Given the description of an element on the screen output the (x, y) to click on. 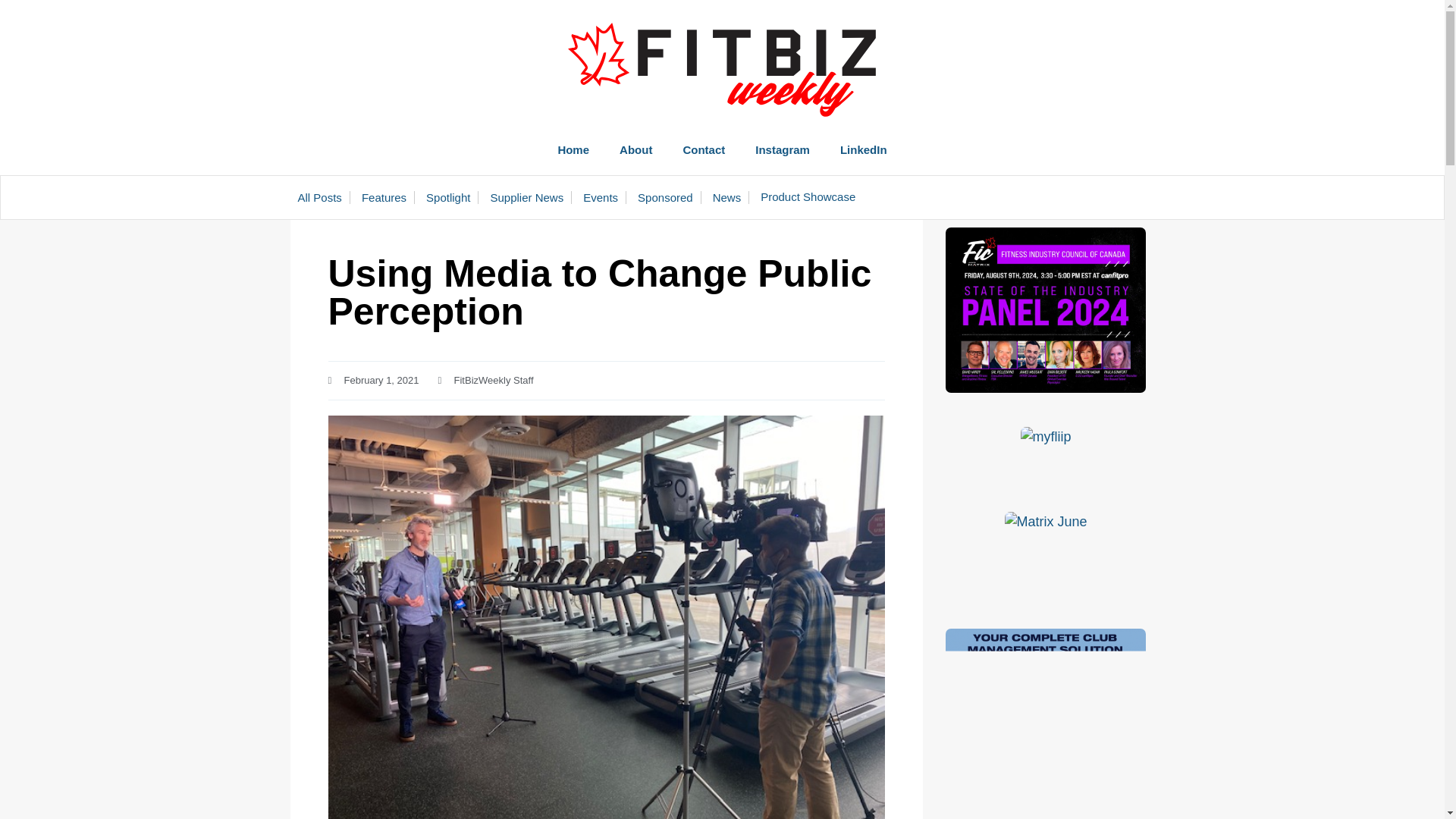
All Posts (323, 196)
LinkedIn (863, 149)
Product Showcase (808, 197)
Events (604, 196)
Spotlight (452, 196)
Features (387, 196)
Instagram (782, 149)
Home (572, 149)
News (731, 196)
Supplier News (530, 196)
